Given the description of an element on the screen output the (x, y) to click on. 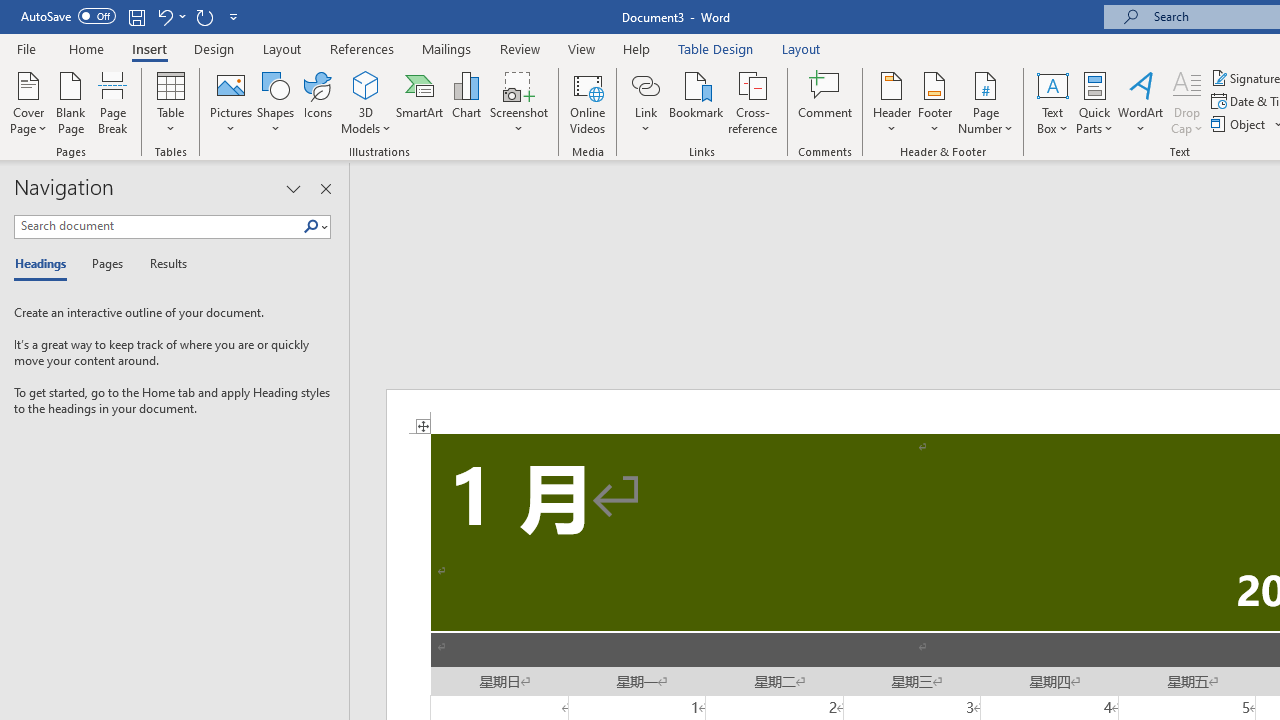
SmartArt... (419, 102)
Screenshot (518, 102)
Search document (157, 226)
Undo Increase Indent (170, 15)
Online Videos... (588, 102)
Repeat Doc Close (204, 15)
WordArt (1141, 102)
3D Models (366, 84)
